Given the description of an element on the screen output the (x, y) to click on. 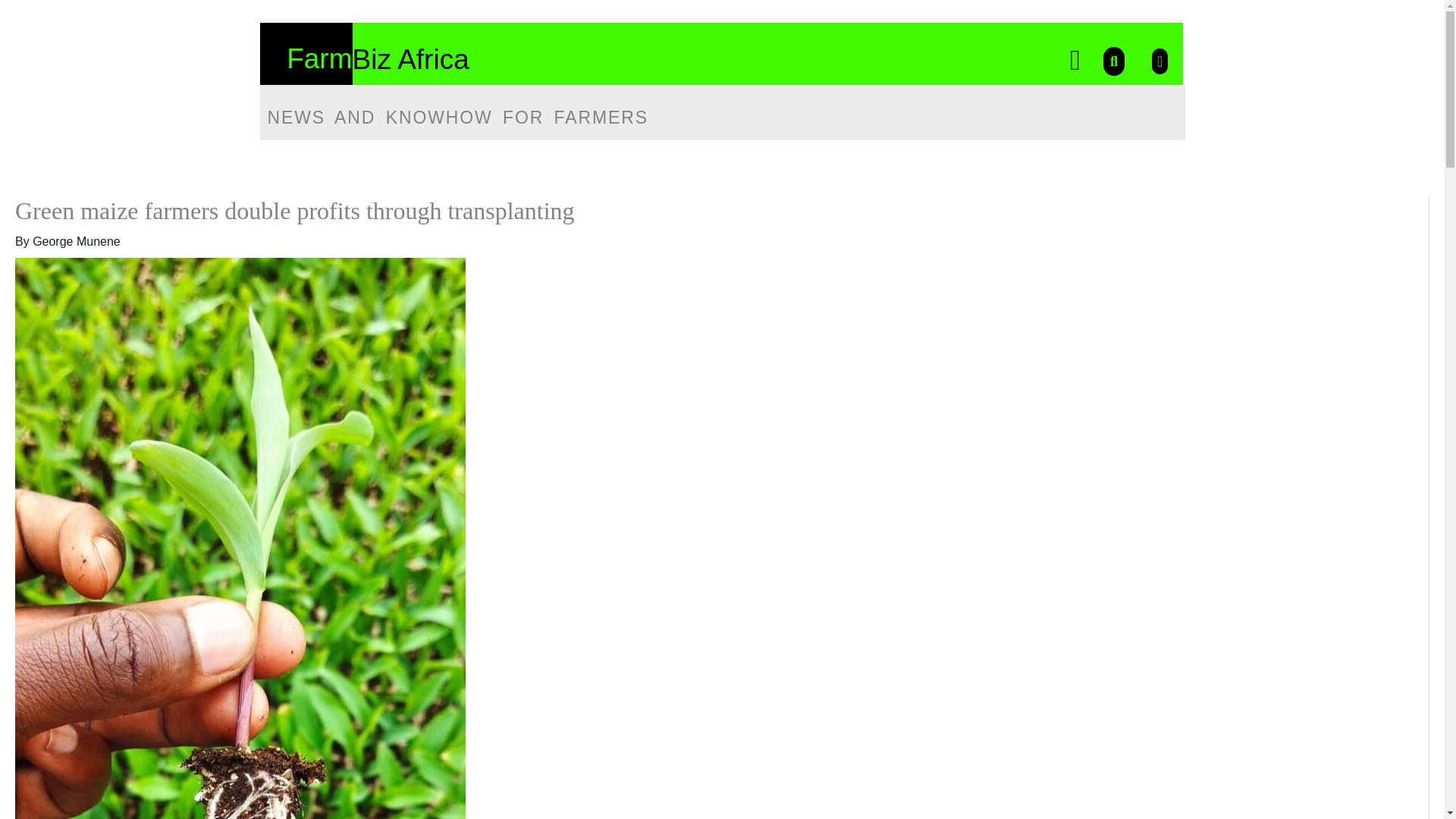
Farm (319, 58)
Biz Africa (410, 59)
View all posts by George Munene (76, 241)
George Munene (76, 241)
